Given the description of an element on the screen output the (x, y) to click on. 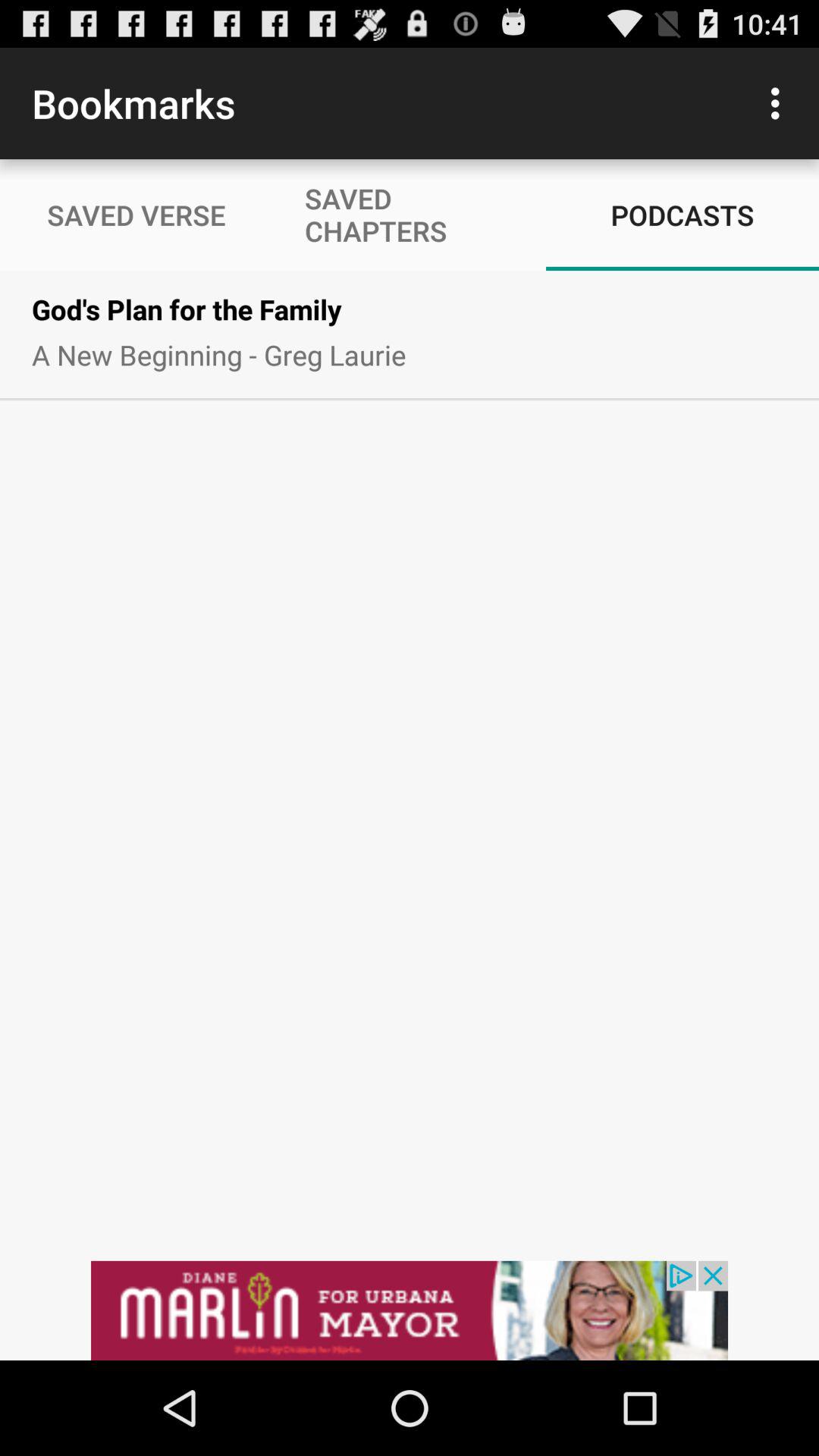
advertisement link (409, 1310)
